Given the description of an element on the screen output the (x, y) to click on. 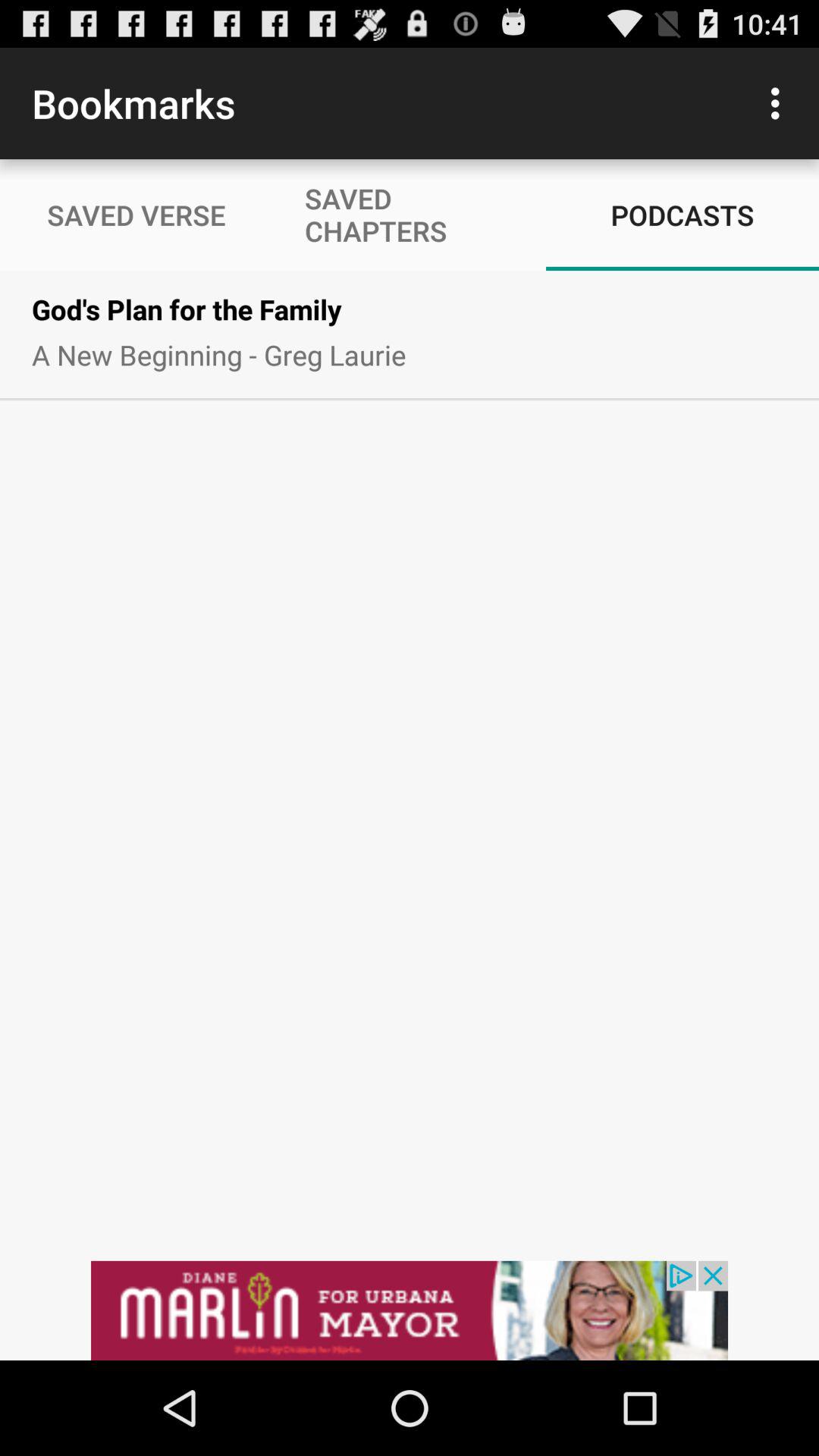
advertisement link (409, 1310)
